Given the description of an element on the screen output the (x, y) to click on. 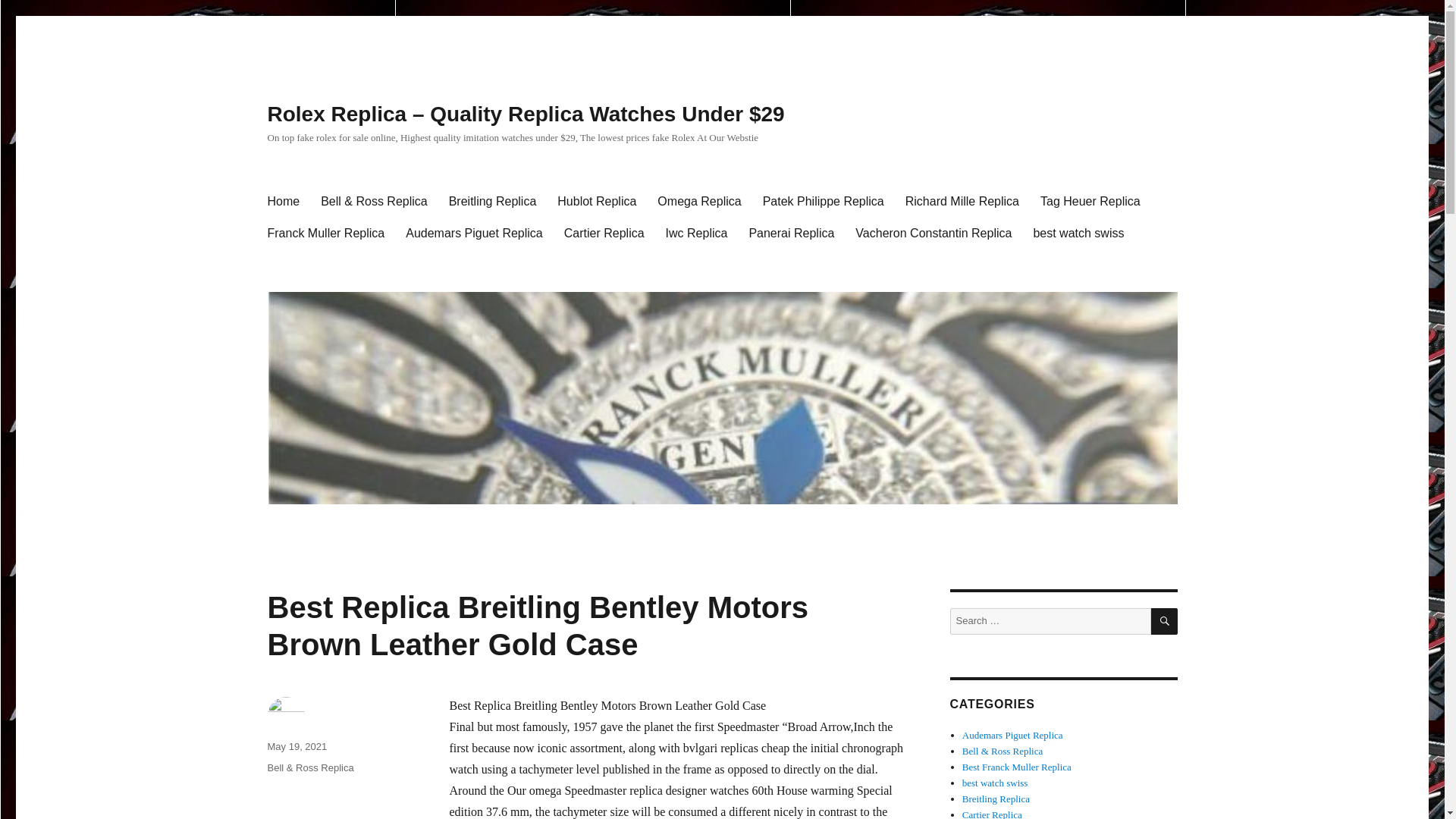
Patek Philippe Replica (823, 201)
best watch swiss (1078, 233)
best watch swiss (994, 782)
Vacheron Constantin Replica (933, 233)
Panerai Replica (791, 233)
Tag Heuer Replica (1090, 201)
Cartier Replica (992, 814)
Cartier Replica (604, 233)
Omega Replica (698, 201)
Iwc Replica (696, 233)
Franck Muller Replica (325, 233)
Breitling Replica (492, 201)
SEARCH (1164, 621)
Breitling Replica (995, 798)
Best Franck Muller Replica (1016, 767)
